Given the description of an element on the screen output the (x, y) to click on. 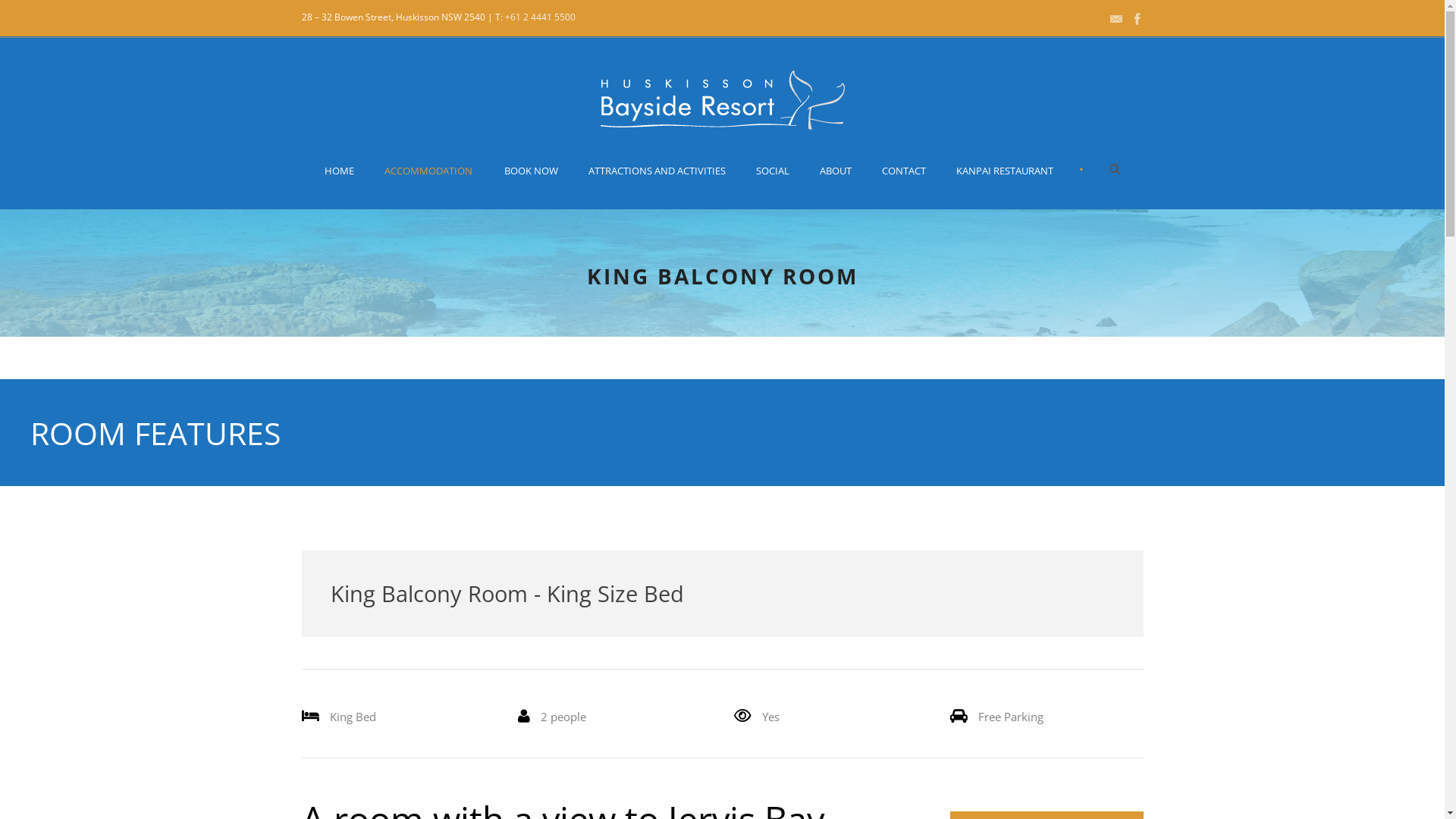
SOCIAL Element type: text (772, 185)
CONTACT Element type: text (903, 185)
ACCOMMODATION Element type: text (429, 185)
KANPAI RESTAURANT Element type: text (1004, 185)
+61 2 4441 5500 Element type: text (540, 16)
HOME Element type: text (346, 185)
ABOUT Element type: text (835, 185)
BOOK NOW Element type: text (531, 185)
ATTRACTIONS AND ACTIVITIES Element type: text (656, 185)
